Given the description of an element on the screen output the (x, y) to click on. 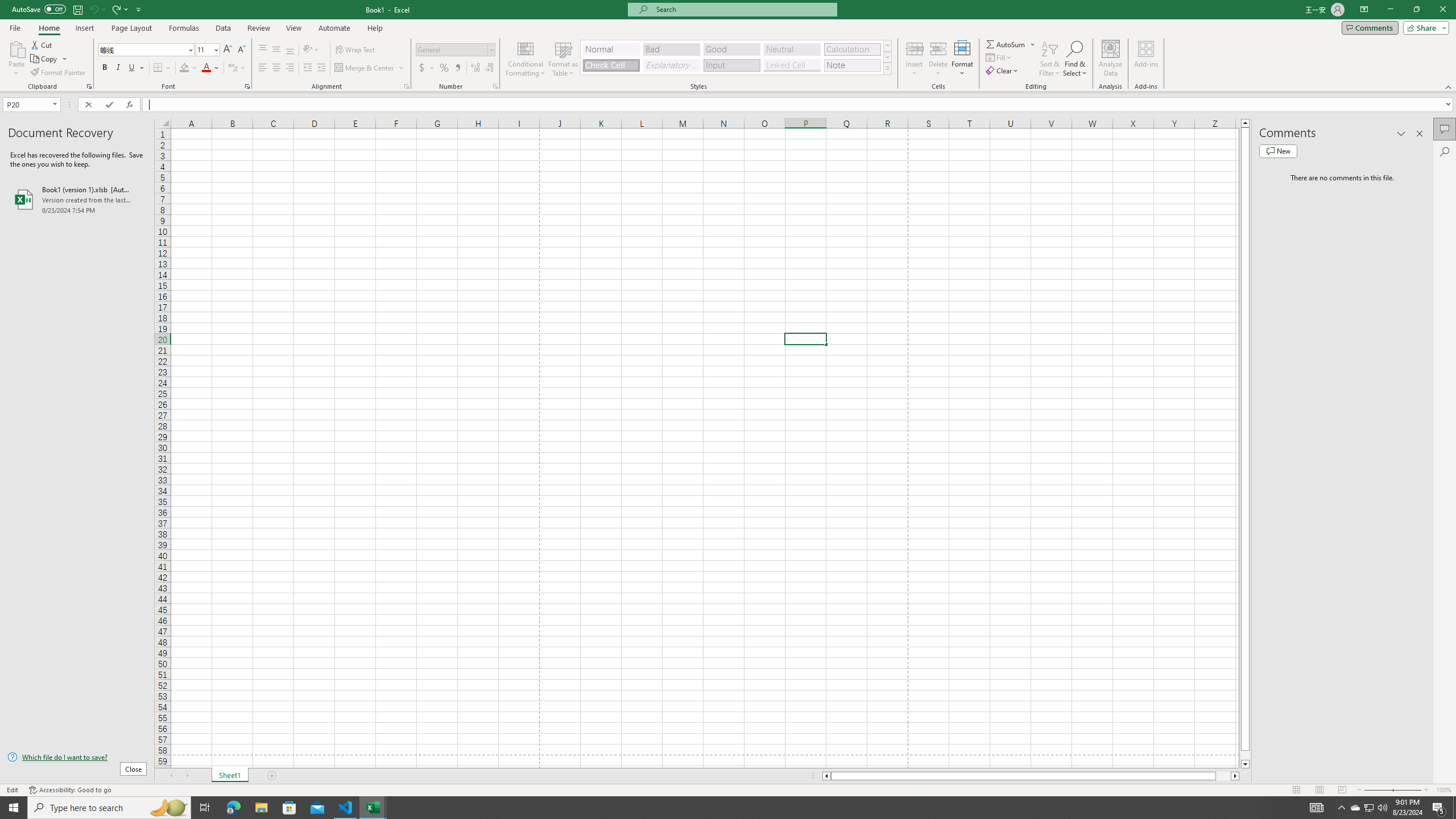
Find & Select (1075, 58)
Office Clipboard... (88, 85)
Font Size (207, 49)
Format Painter (58, 72)
Bold (104, 67)
Delete Cells... (938, 48)
